Given the description of an element on the screen output the (x, y) to click on. 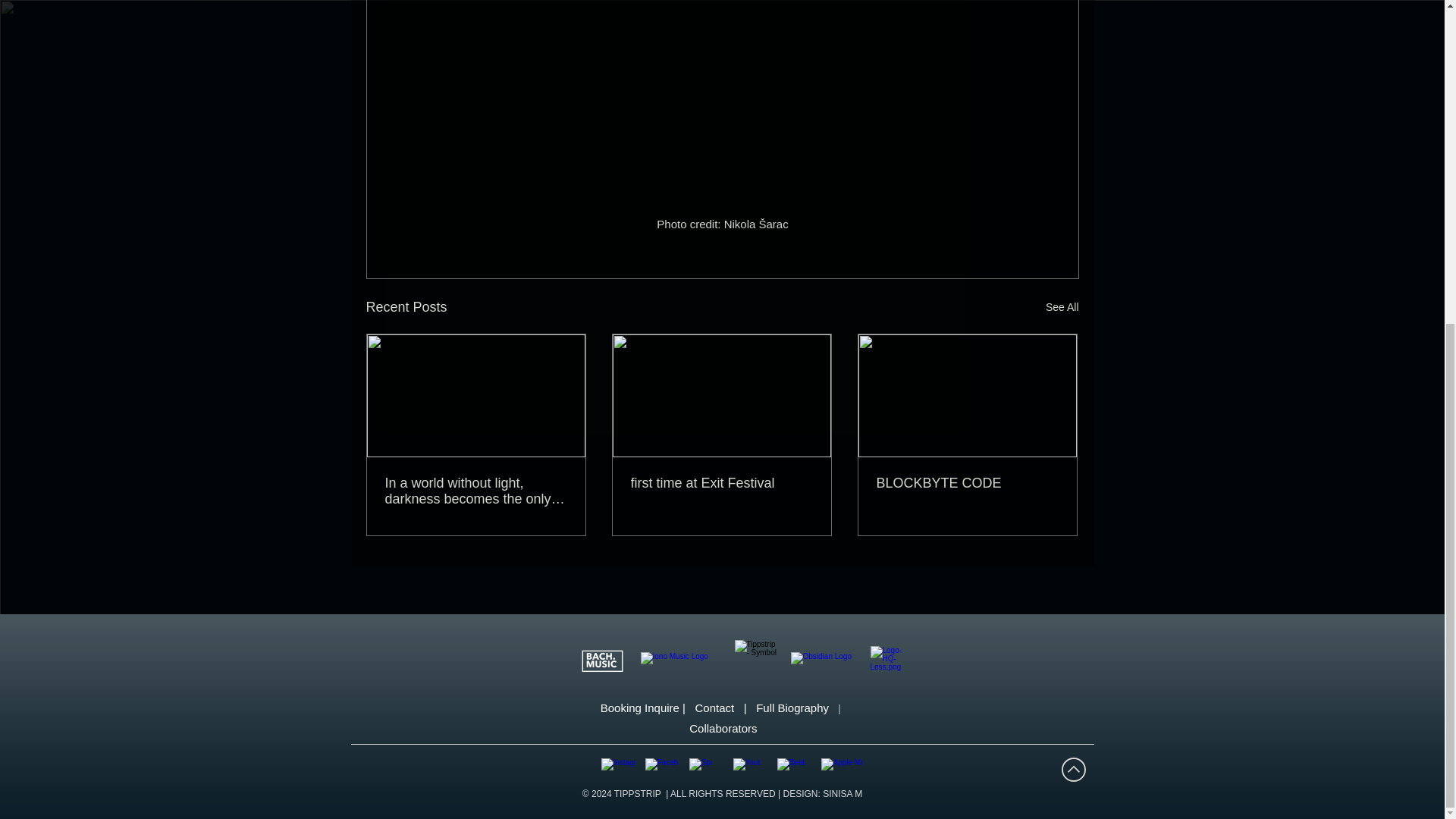
SINISA M (841, 793)
BLOCKBYTE CODE (967, 483)
Contact    (719, 707)
first time at Exit Festival (721, 483)
Full Biography    (796, 707)
See All (1061, 307)
In a world without light, darkness becomes the only truth (476, 490)
Booking Inquire (639, 707)
Collaborators (722, 728)
